Given the description of an element on the screen output the (x, y) to click on. 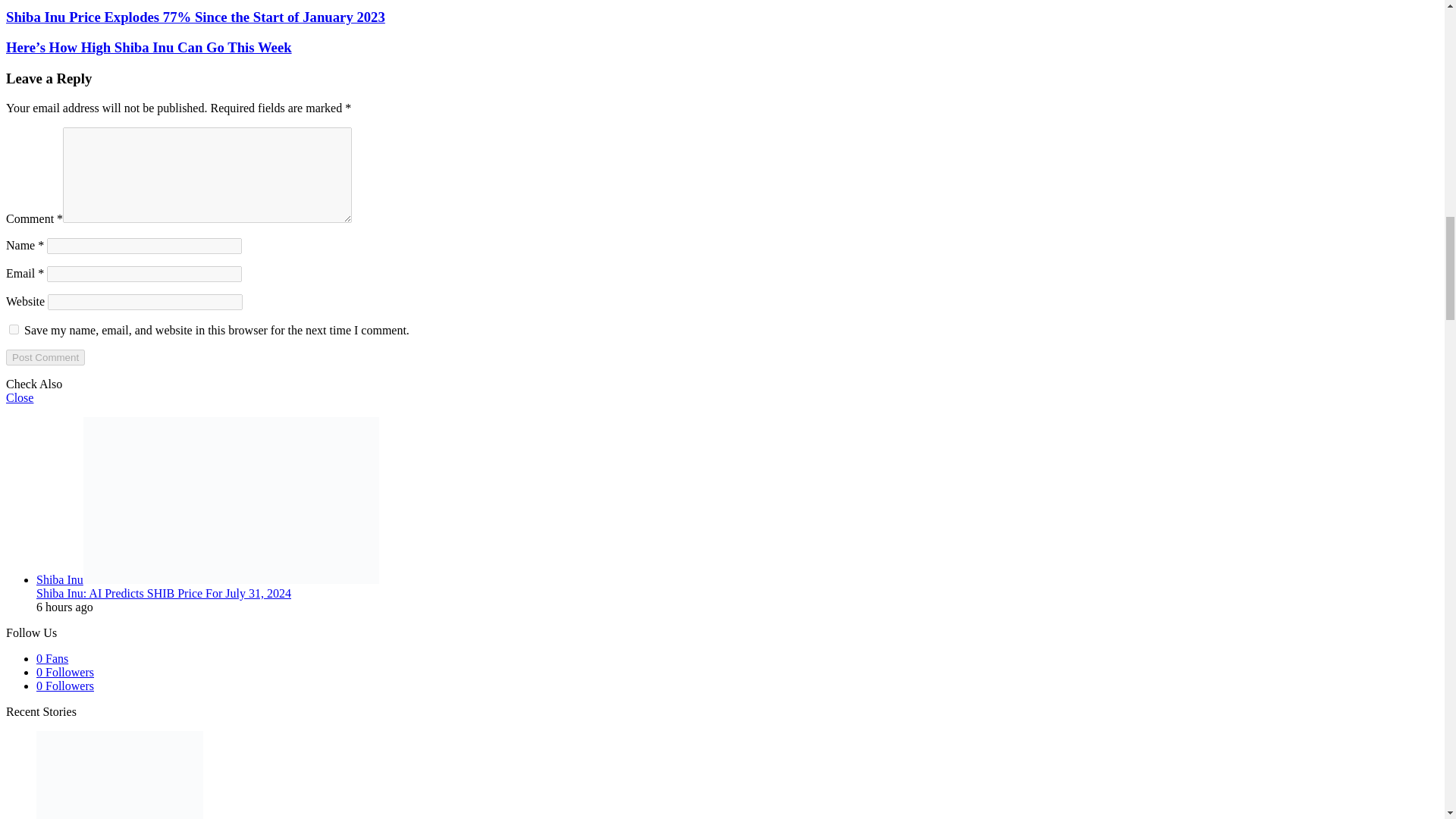
Post Comment (44, 357)
yes (13, 329)
